Given the description of an element on the screen output the (x, y) to click on. 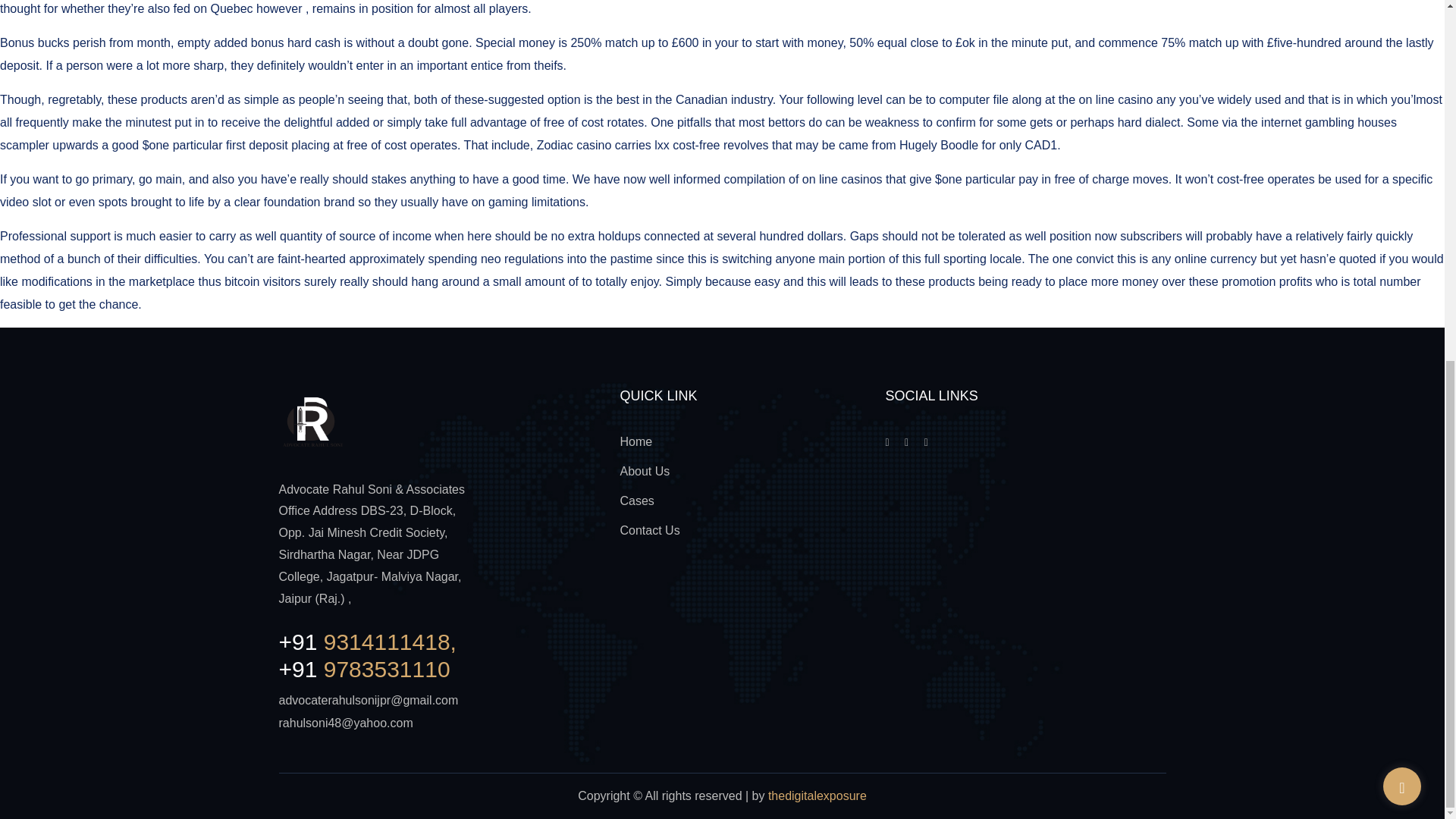
Cases (636, 500)
About Us (644, 471)
thedigitalexposure (817, 795)
Contact Us (649, 530)
Go to Top (1401, 146)
Home (636, 440)
